Given the description of an element on the screen output the (x, y) to click on. 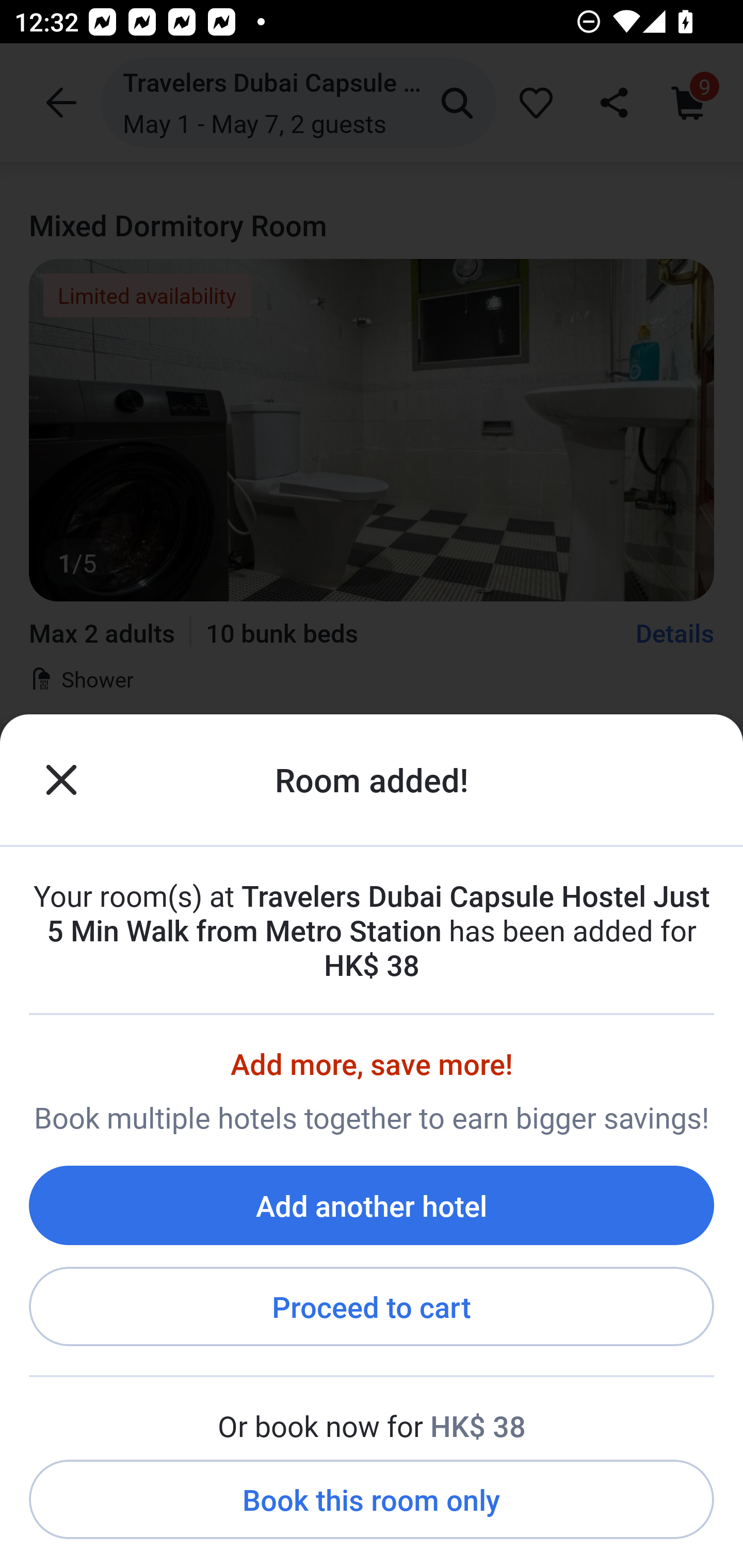
Add another hotel (371, 1204)
Proceed to cart (371, 1306)
Book this room only (371, 1499)
